Given the description of an element on the screen output the (x, y) to click on. 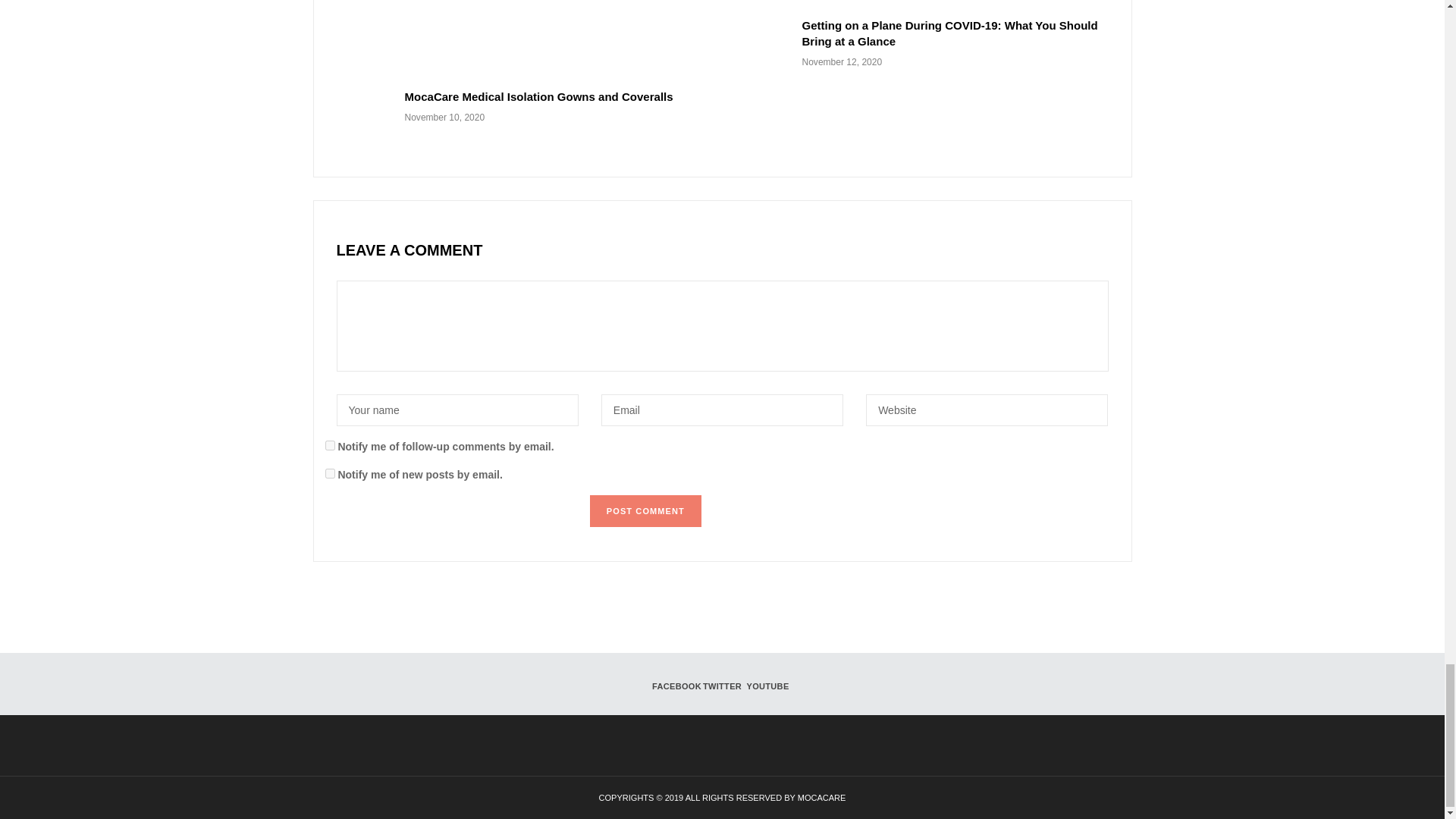
subscribe (329, 473)
Website (987, 409)
Email (722, 409)
Post Comment (645, 511)
subscribe (329, 445)
Your name (457, 409)
Post Comment (645, 511)
MocaCare Medical Isolation Gowns and Coveralls (538, 96)
